Given the description of an element on the screen output the (x, y) to click on. 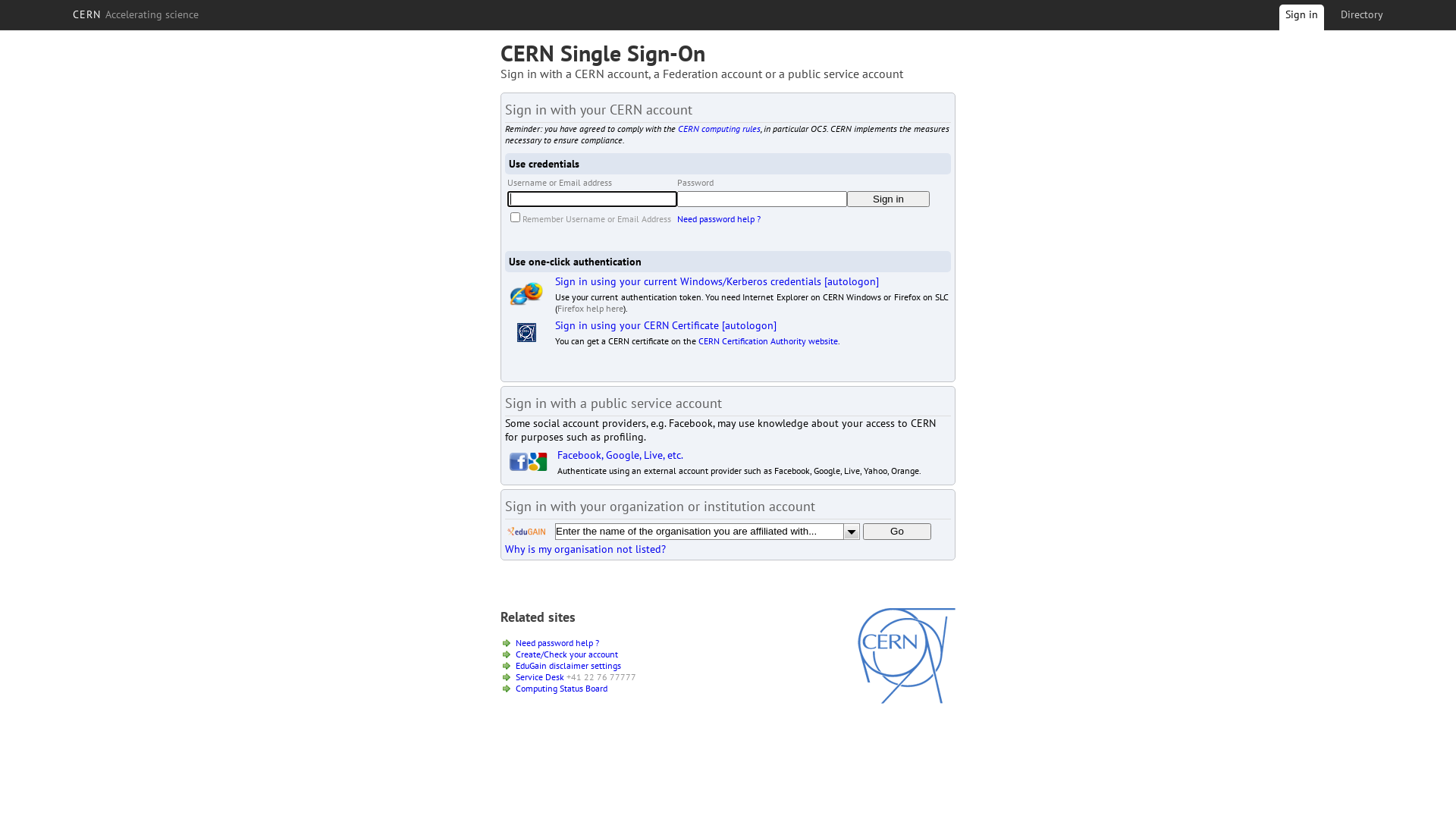
Create/Check your account Element type: text (566, 653)
CERN Accelerating science Element type: text (135, 14)
Enter your Username or Email Address Element type: hover (592, 199)
Need password help ? Element type: text (557, 642)
CERN Element type: hover (906, 699)
Go Element type: text (896, 531)
[autologon] Element type: text (851, 281)
[show debug information] Element type: text (549, 565)
Need password help ? Element type: text (718, 218)
CERN Single Sign-On Element type: text (602, 52)
[autologon] Element type: text (748, 325)
Service Desk Element type: text (539, 676)
Directory Element type: text (1361, 14)
EduGain disclaimer settings Element type: text (568, 665)
Sign in using your current Windows/Kerberos credentials Element type: text (688, 281)
CERN Certification Authority website Element type: text (767, 340)
Why is my organisation not listed? Element type: text (585, 548)
CERN computing rules Element type: text (718, 128)
Firefox help here Element type: text (590, 307)
Sign in Element type: text (888, 199)
Computing Status Board Element type: text (561, 687)
Sign in using your CERN Certificate Element type: text (636, 325)
Sign in Element type: text (1301, 19)
Facebook, Google, Live, etc. Element type: text (620, 454)
